Given the description of an element on the screen output the (x, y) to click on. 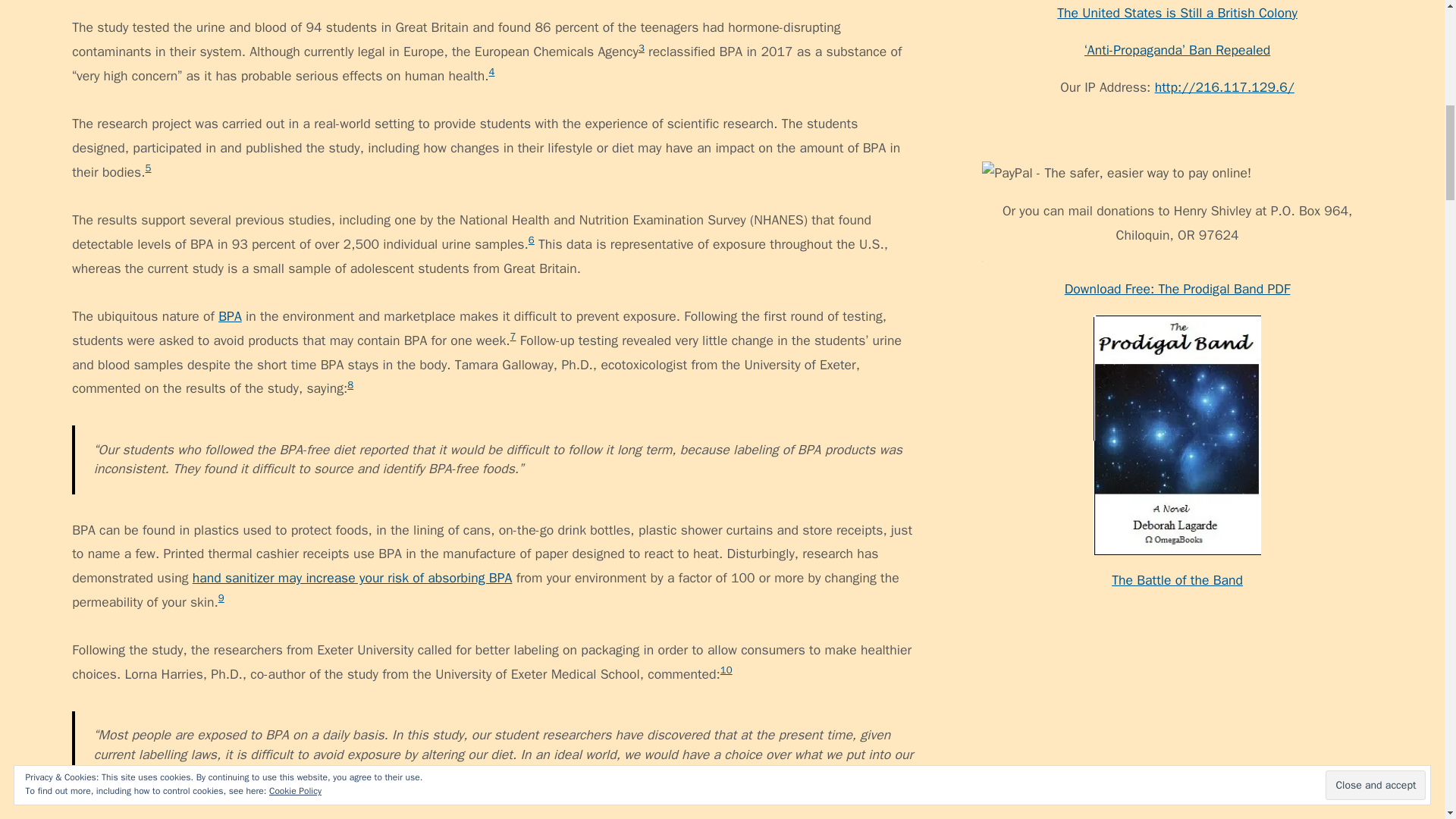
porno (997, 487)
6 (531, 239)
5 (148, 167)
3 (642, 47)
4 (492, 71)
